Given the description of an element on the screen output the (x, y) to click on. 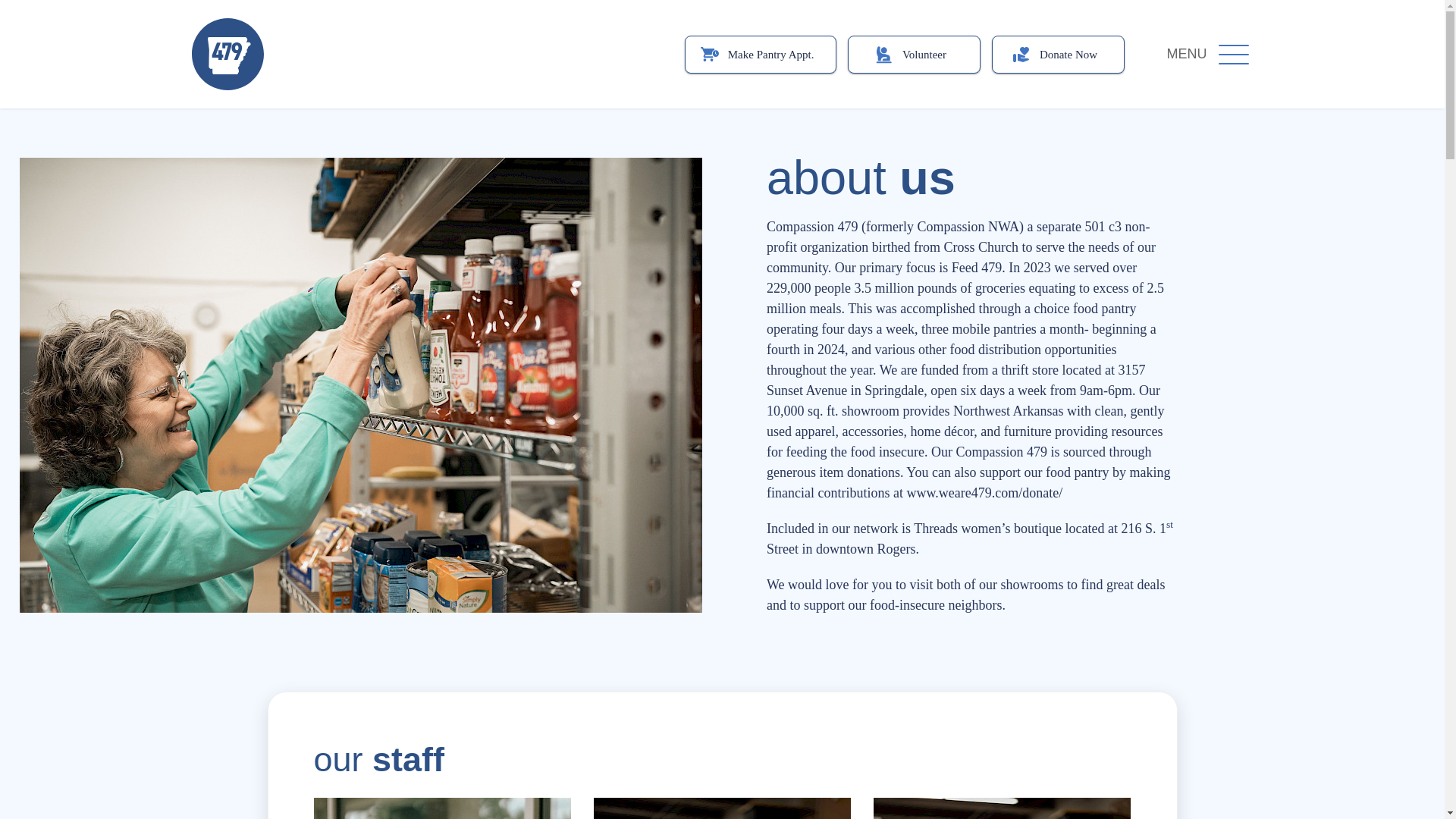
Donate Now (1057, 53)
Donate Now (1057, 53)
MENU (1206, 54)
Make Pantry Appt. (759, 53)
Make Pantry Appt. (759, 53)
Volunteer (913, 53)
